Given the description of an element on the screen output the (x, y) to click on. 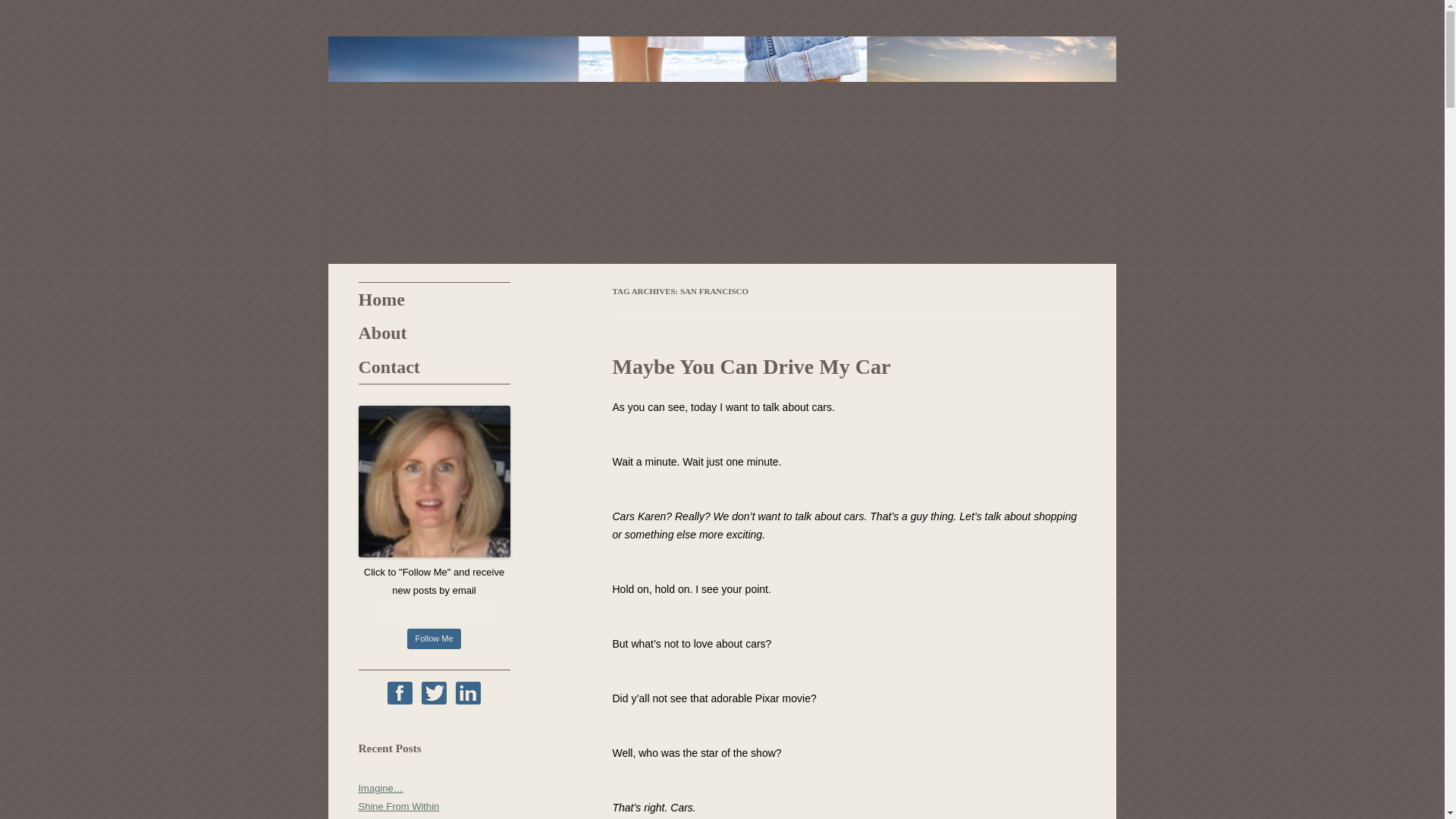
Follow Me (433, 639)
Maybe You Can Drive My Car (751, 366)
